Given the description of an element on the screen output the (x, y) to click on. 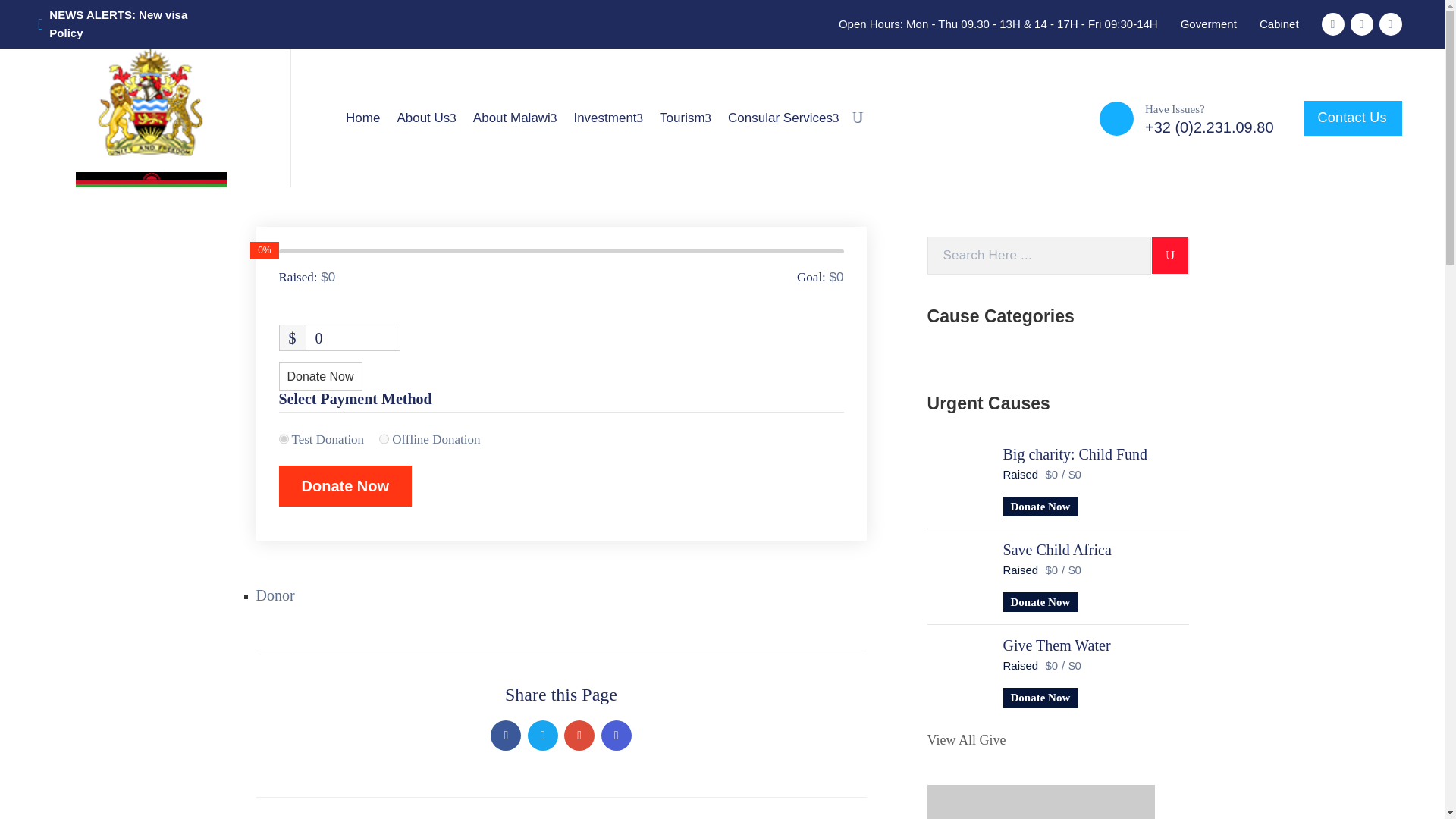
About Malawi (515, 118)
Twitter (542, 735)
Investment (607, 118)
Pinterest (579, 735)
Linkedin (616, 735)
About Us (426, 118)
offline (383, 439)
Donate Now (345, 486)
manual (283, 439)
Submit (1170, 255)
Home (362, 118)
Save Child Africa (957, 574)
Big charity: Child Fund (957, 478)
Give Them Water (957, 670)
Facebook (505, 735)
